Given the description of an element on the screen output the (x, y) to click on. 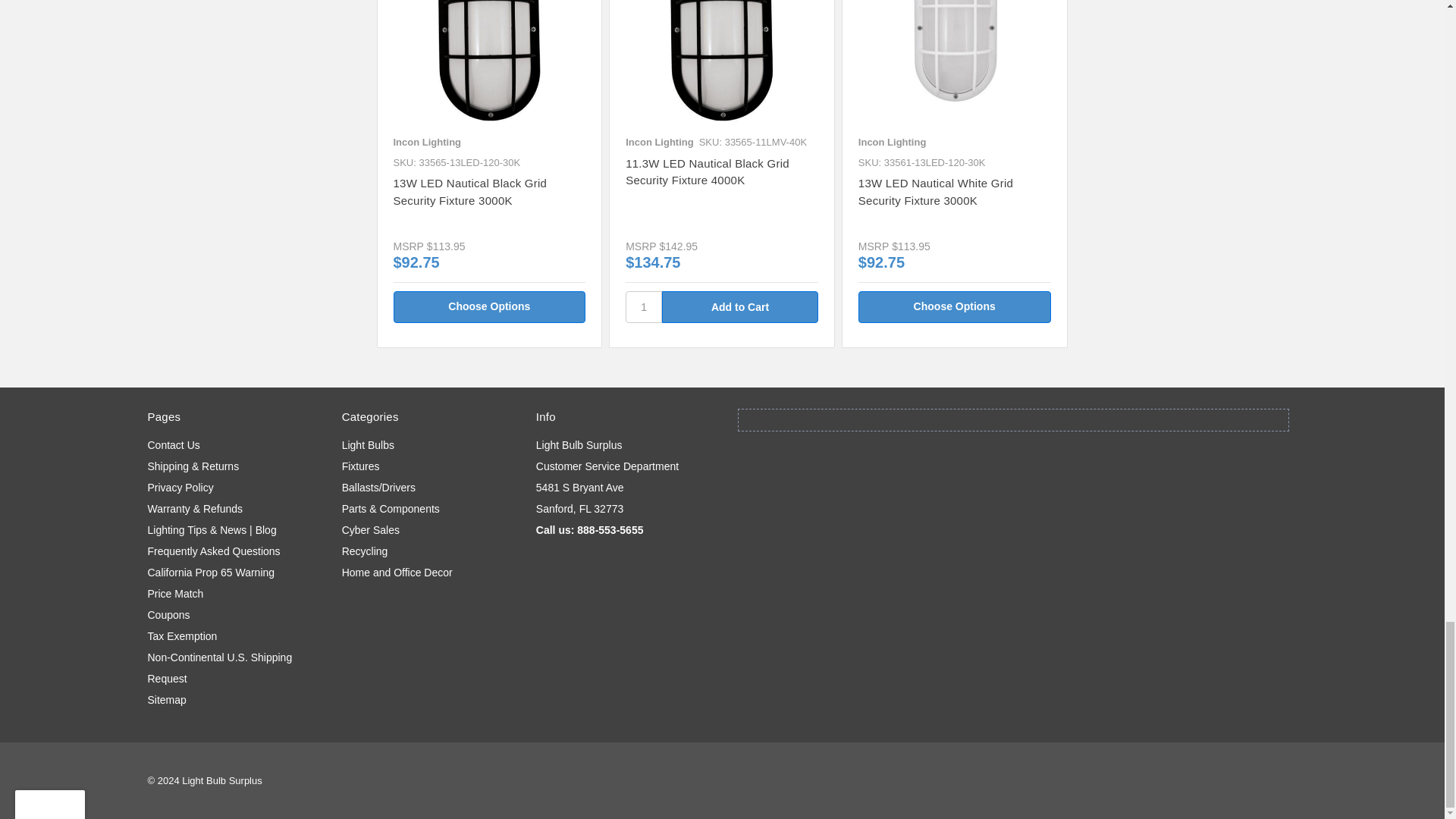
Add to Cart (740, 306)
1 (644, 306)
